Given the description of an element on the screen output the (x, y) to click on. 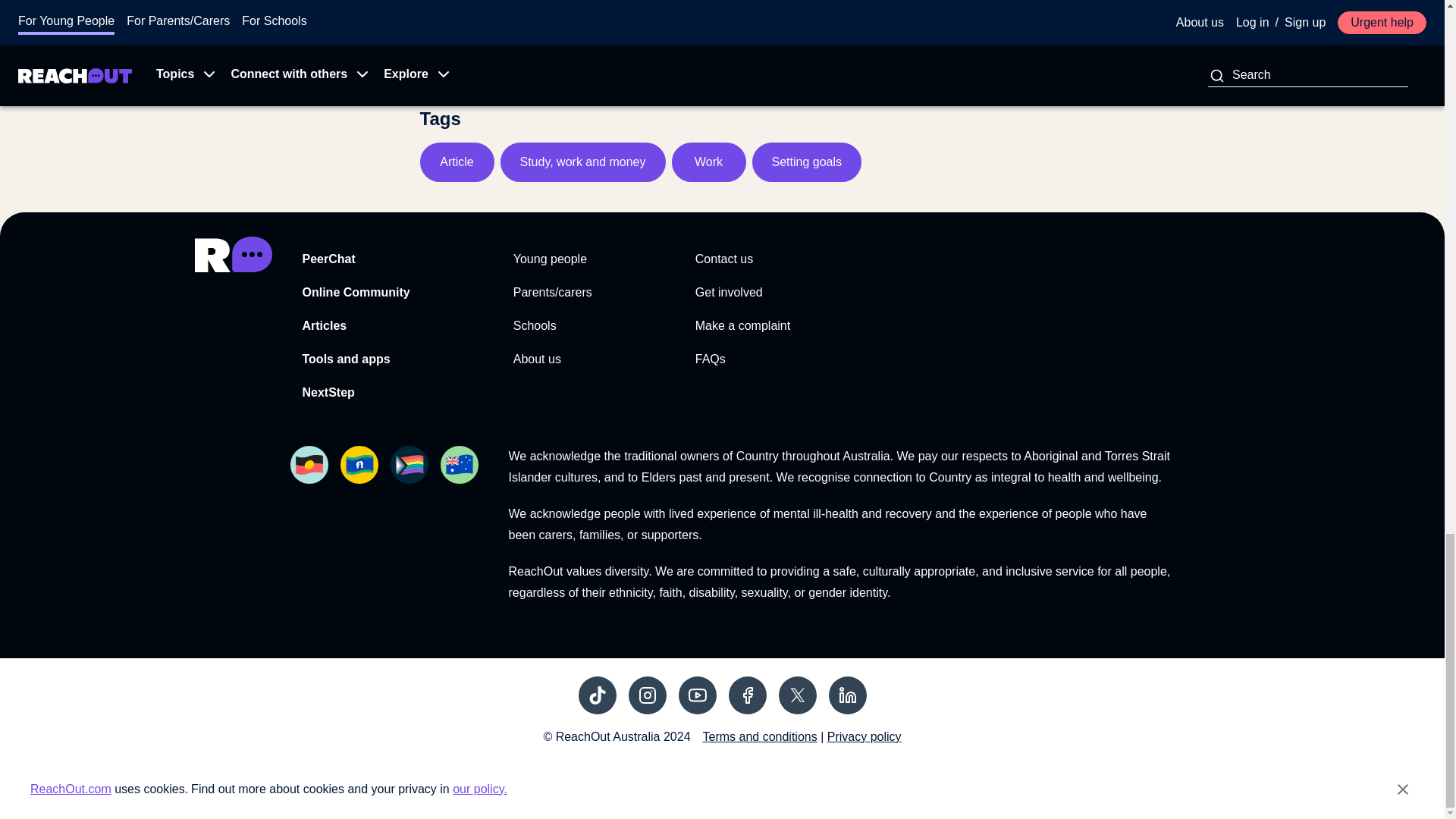
Work (708, 160)
Article (457, 160)
interview skills (570, 6)
Setting goals (806, 160)
Study, work and money (582, 160)
